Given the description of an element on the screen output the (x, y) to click on. 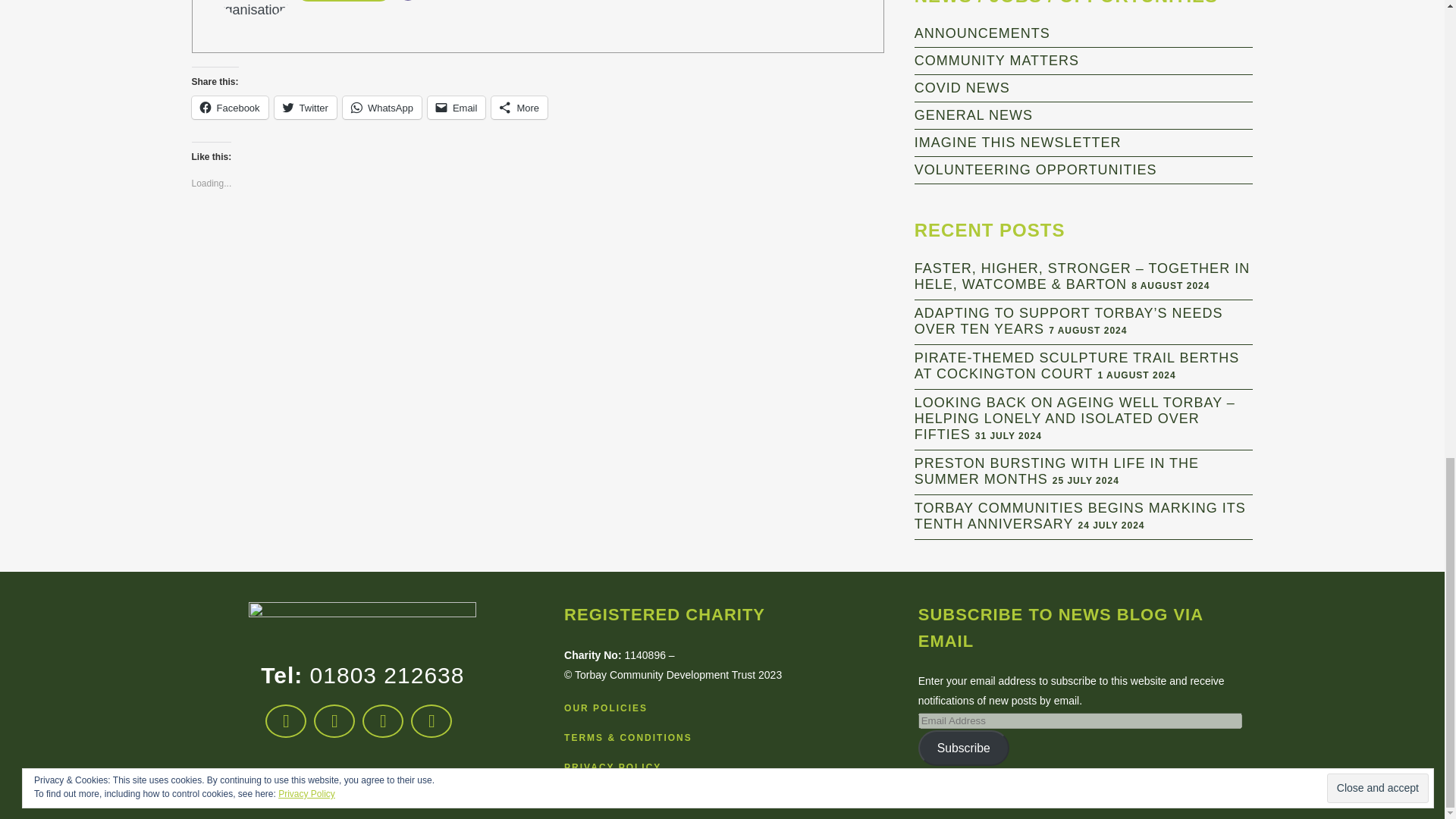
Click to share on Twitter (305, 107)
Click to share on Facebook (228, 107)
Click to email a link to a friend (457, 107)
Click to share on WhatsApp (382, 107)
View all posts (343, 0)
